Given the description of an element on the screen output the (x, y) to click on. 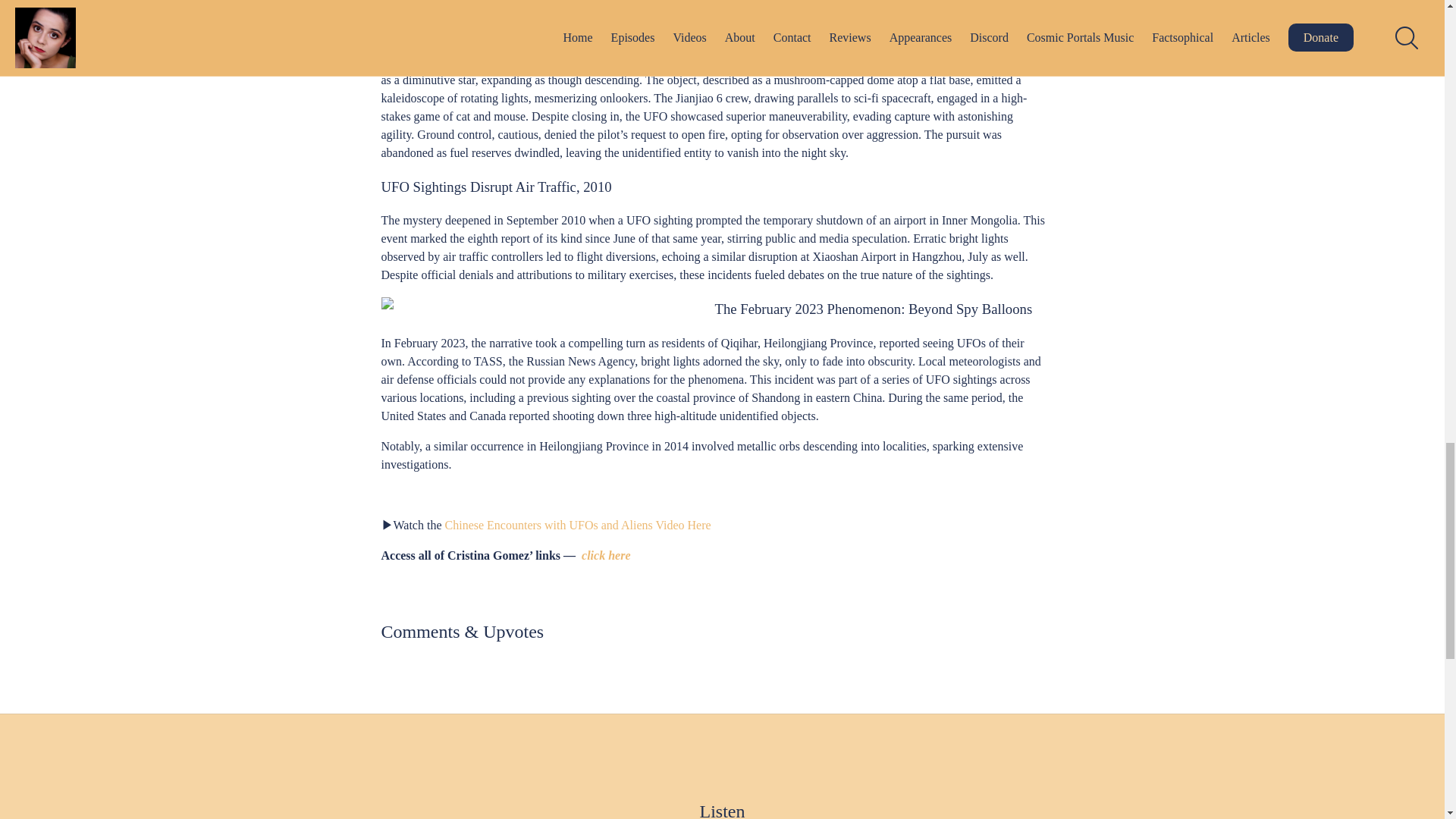
Send (716, 595)
Search for episodes (716, 337)
Chinese Encounters with UFOs and Aliens Video Here (578, 524)
Subscribe to episodes (716, 348)
click here (604, 554)
